Given the description of an element on the screen output the (x, y) to click on. 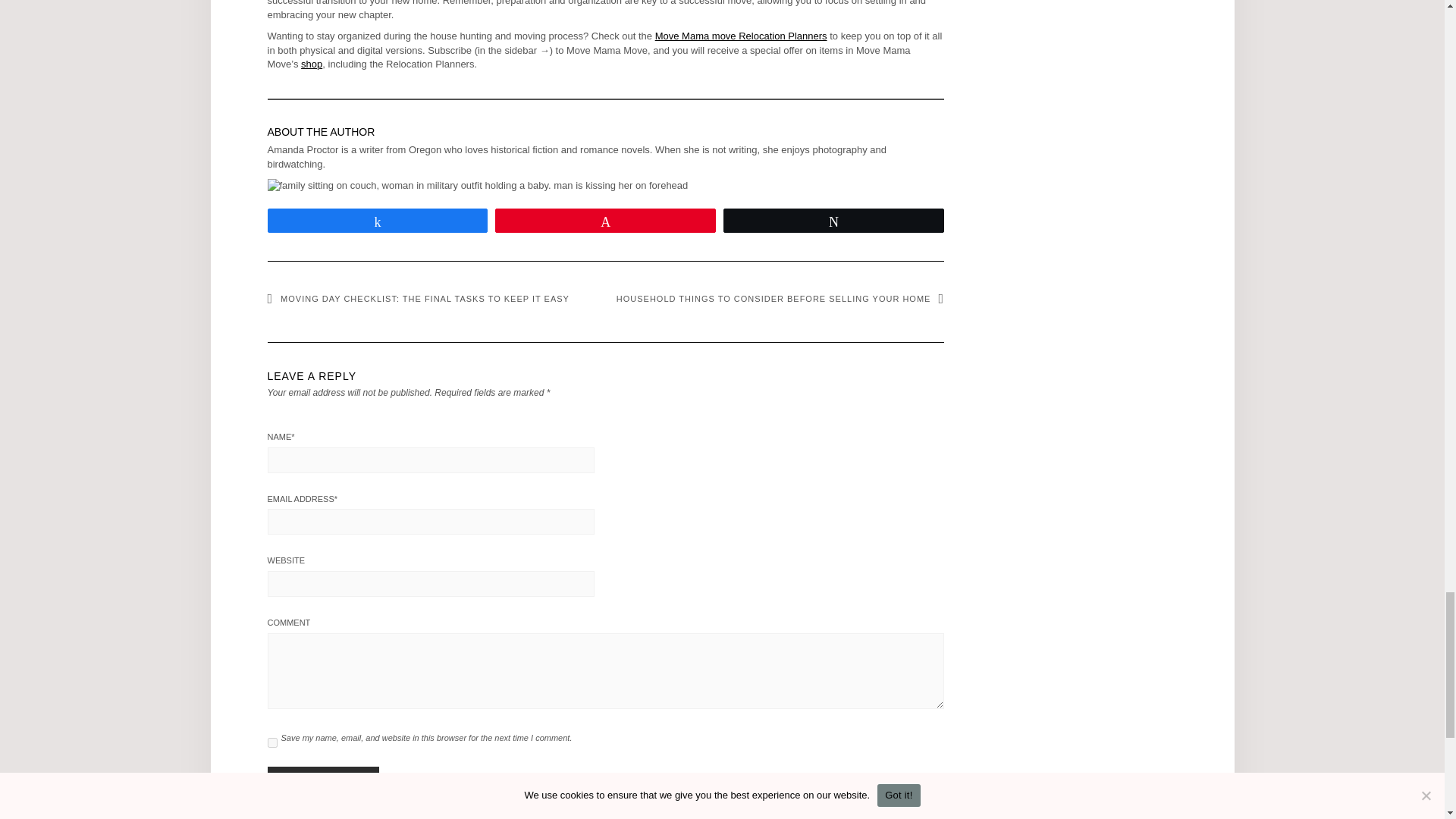
yes (271, 742)
Move Mama move Relocation Planners (741, 35)
MOVING DAY CHECKLIST: THE FINAL TASKS TO KEEP IT EASY (417, 298)
shop (311, 63)
HOUSEHOLD THINGS TO CONSIDER BEFORE SELLING YOUR HOME (779, 298)
Post Comment (322, 780)
Post Comment (322, 780)
